Given the description of an element on the screen output the (x, y) to click on. 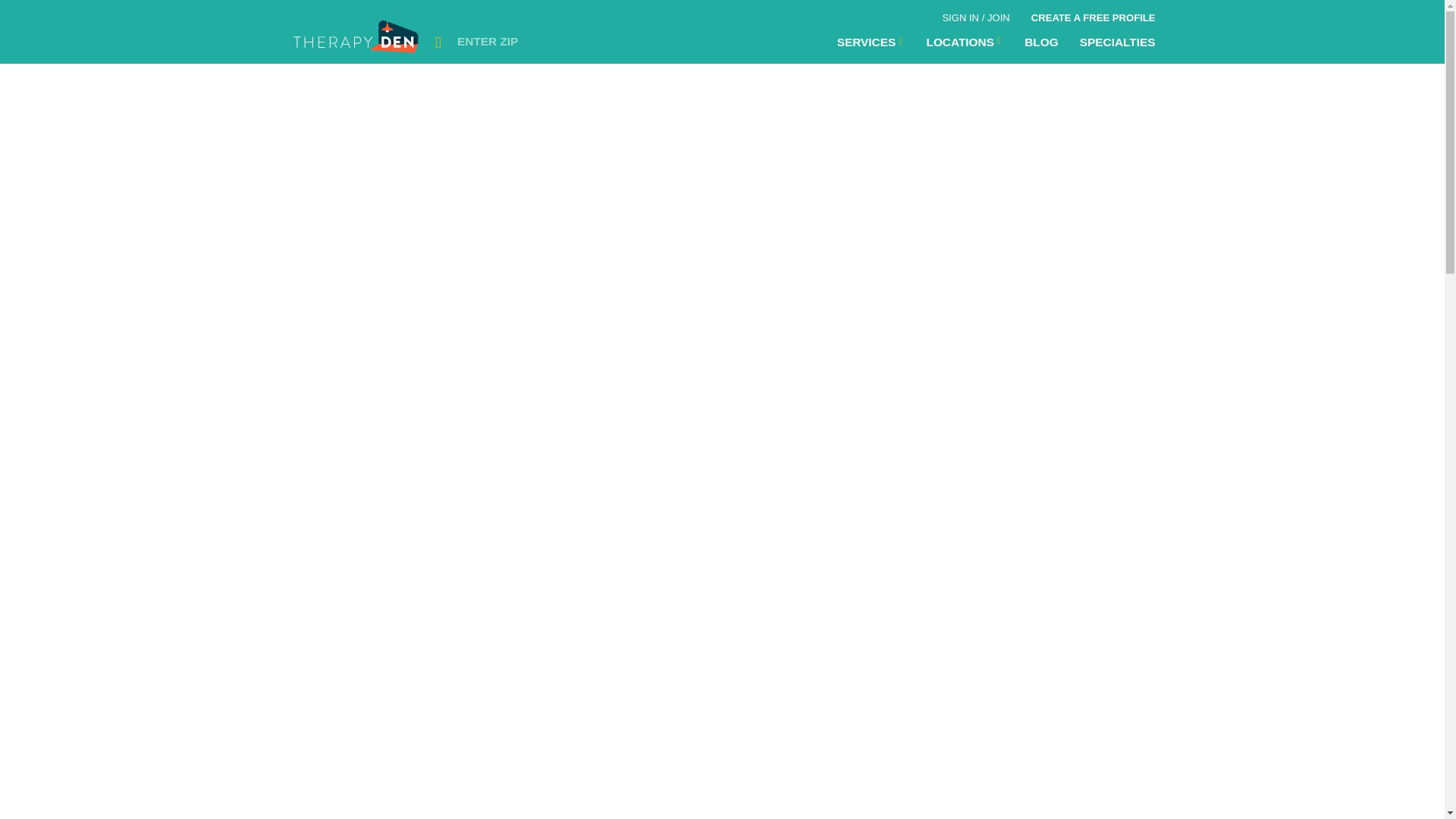
SERVICES (871, 41)
LOCATIONS (964, 41)
Locations (964, 41)
SPECIALTIES (1117, 41)
BLOG (1040, 41)
Specialties (1117, 41)
TherapyDen Home (357, 41)
CREATE A FREE PROFILE (1093, 15)
Blog (1040, 41)
Locations (871, 41)
